Given the description of an element on the screen output the (x, y) to click on. 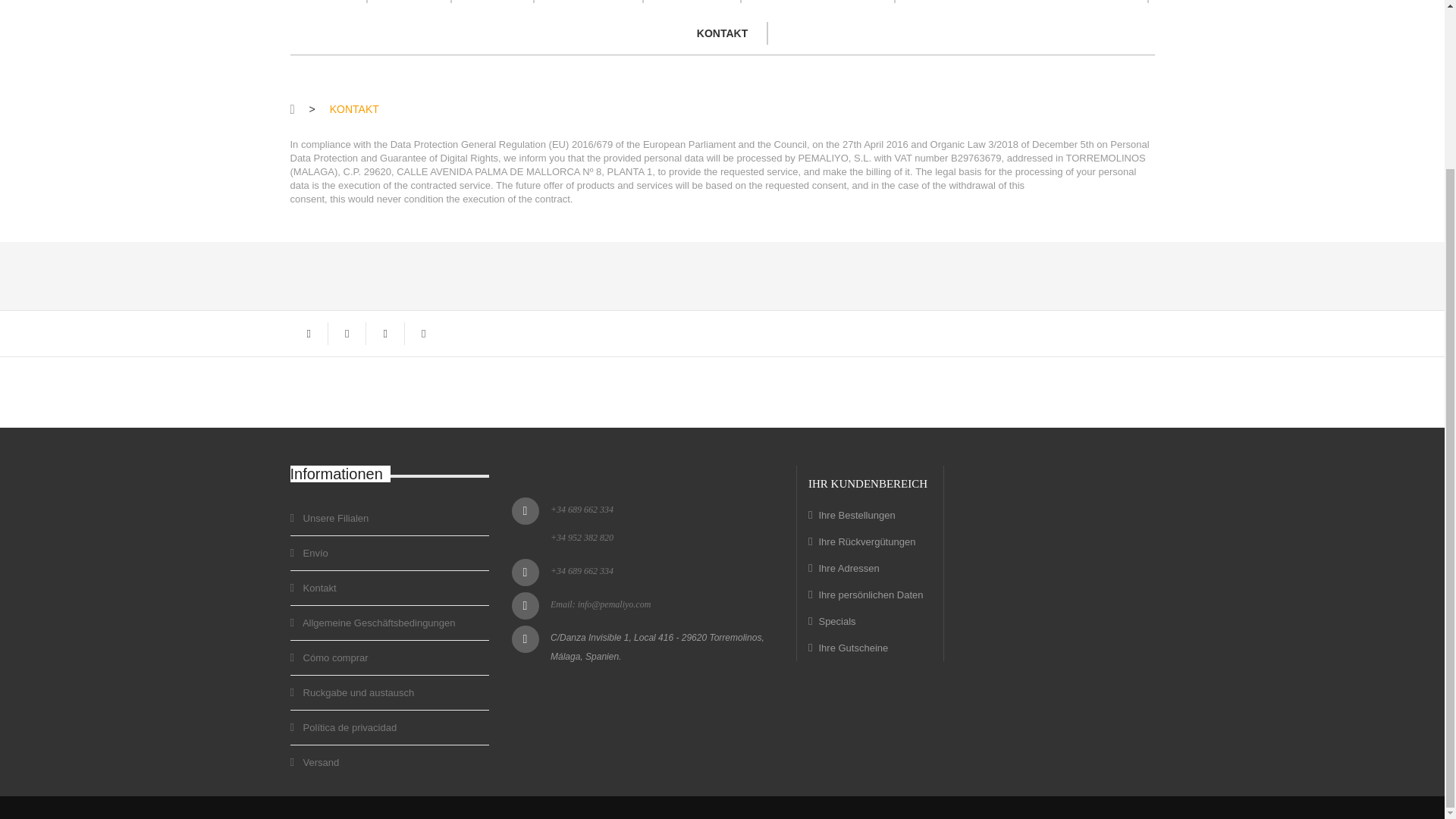
LUXURY COLLECTION (818, 6)
SNEAKERS (692, 6)
HOME (331, 6)
SCHUHE (408, 6)
STIEFEL (492, 6)
ZEREMONIEN (588, 6)
